Given the description of an element on the screen output the (x, y) to click on. 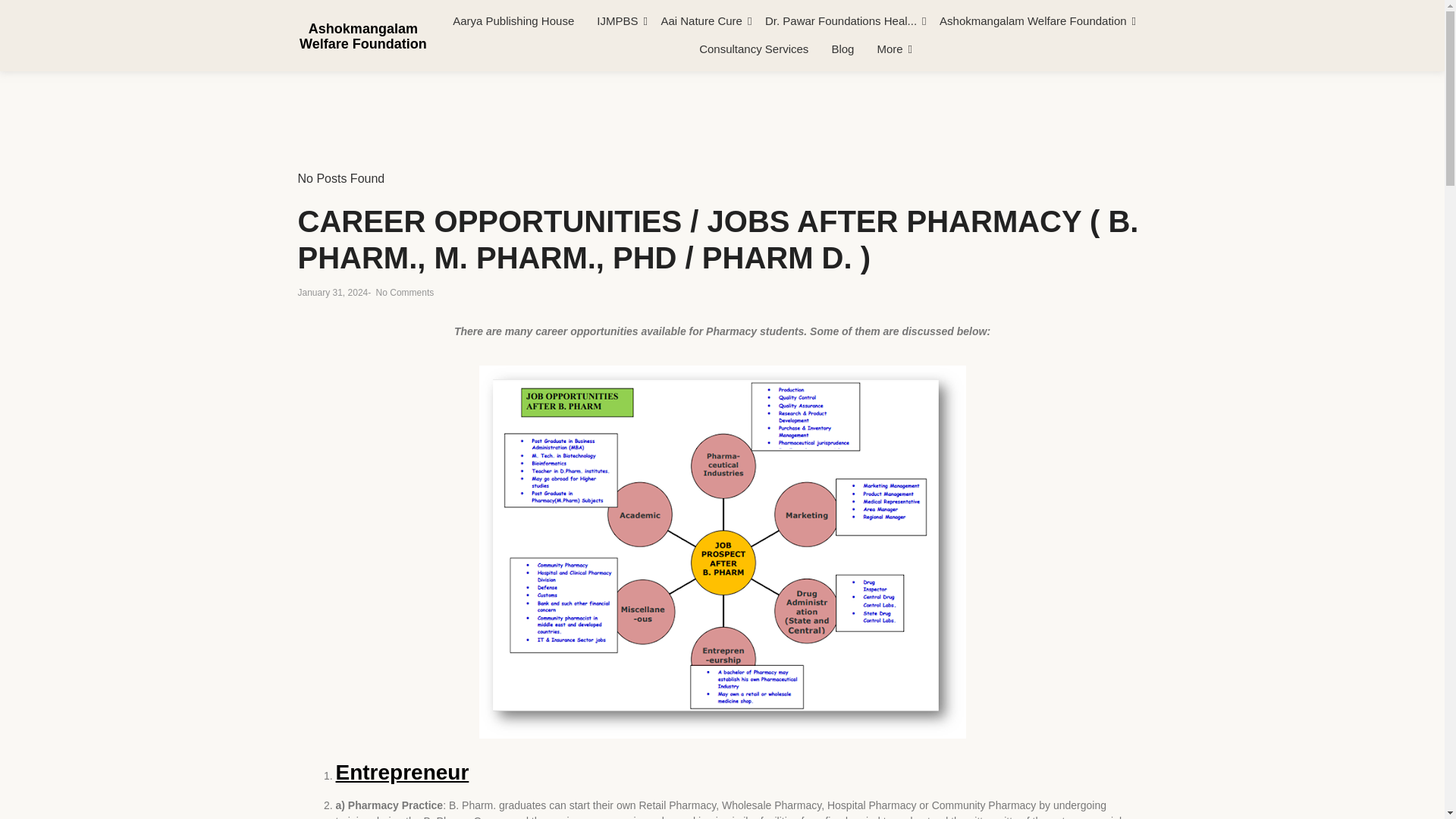
IJMPBS (616, 21)
Dr. Pawar Foundations Heal... (841, 21)
Consultancy Services (753, 49)
Aai Nature Cure (701, 21)
Aarya Publishing House (512, 21)
More (889, 49)
Ashokmangalam Welfare Foundation (1032, 21)
